Given the description of an element on the screen output the (x, y) to click on. 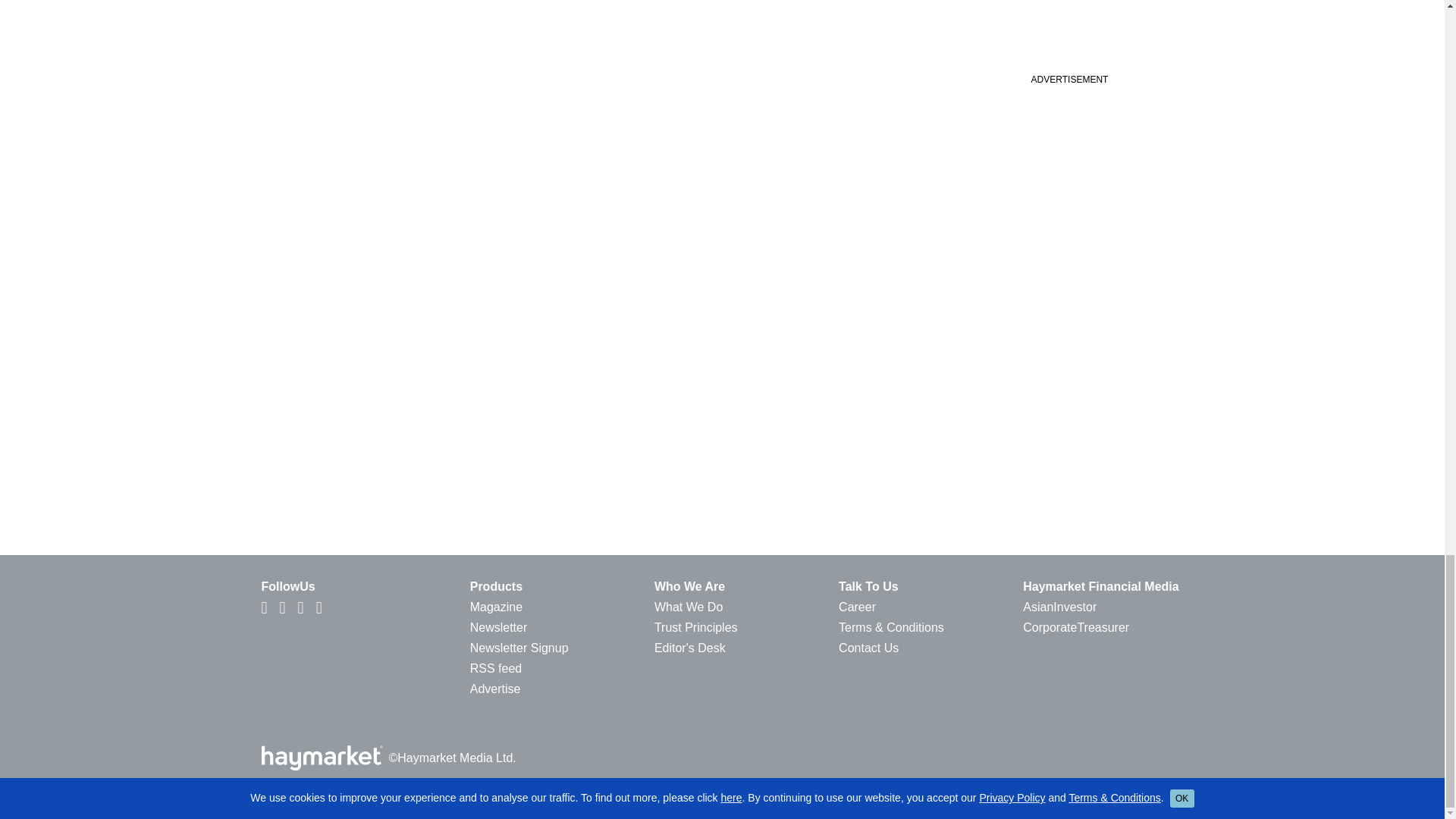
3rd party ad content (1068, 32)
